Given the description of an element on the screen output the (x, y) to click on. 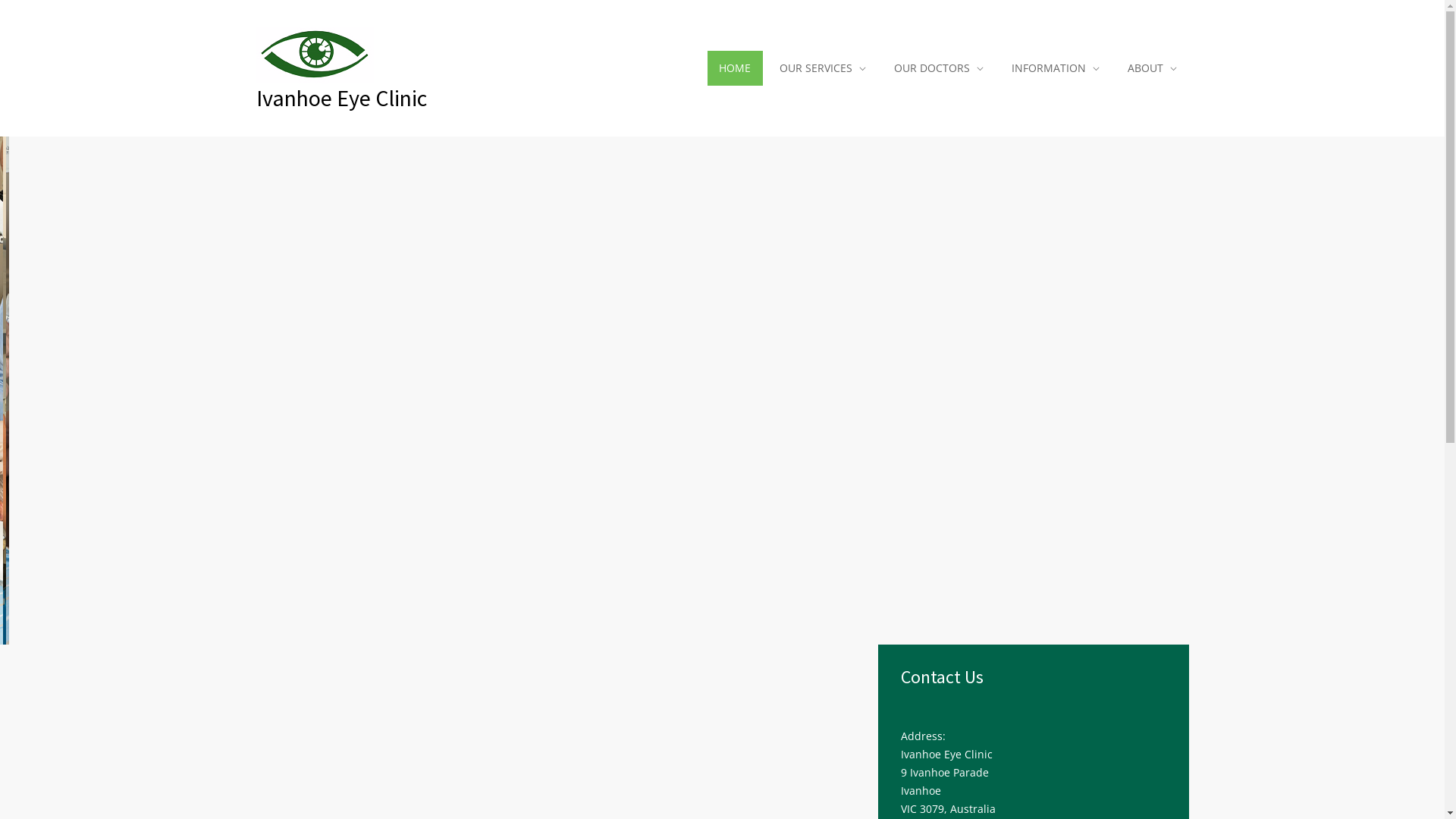
HOME Element type: text (734, 68)
INFORMATION Element type: text (1055, 68)
OUR SERVICES Element type: text (822, 68)
ABOUT Element type: text (1151, 68)
OUR DOCTORS Element type: text (937, 68)
